Given the description of an element on the screen output the (x, y) to click on. 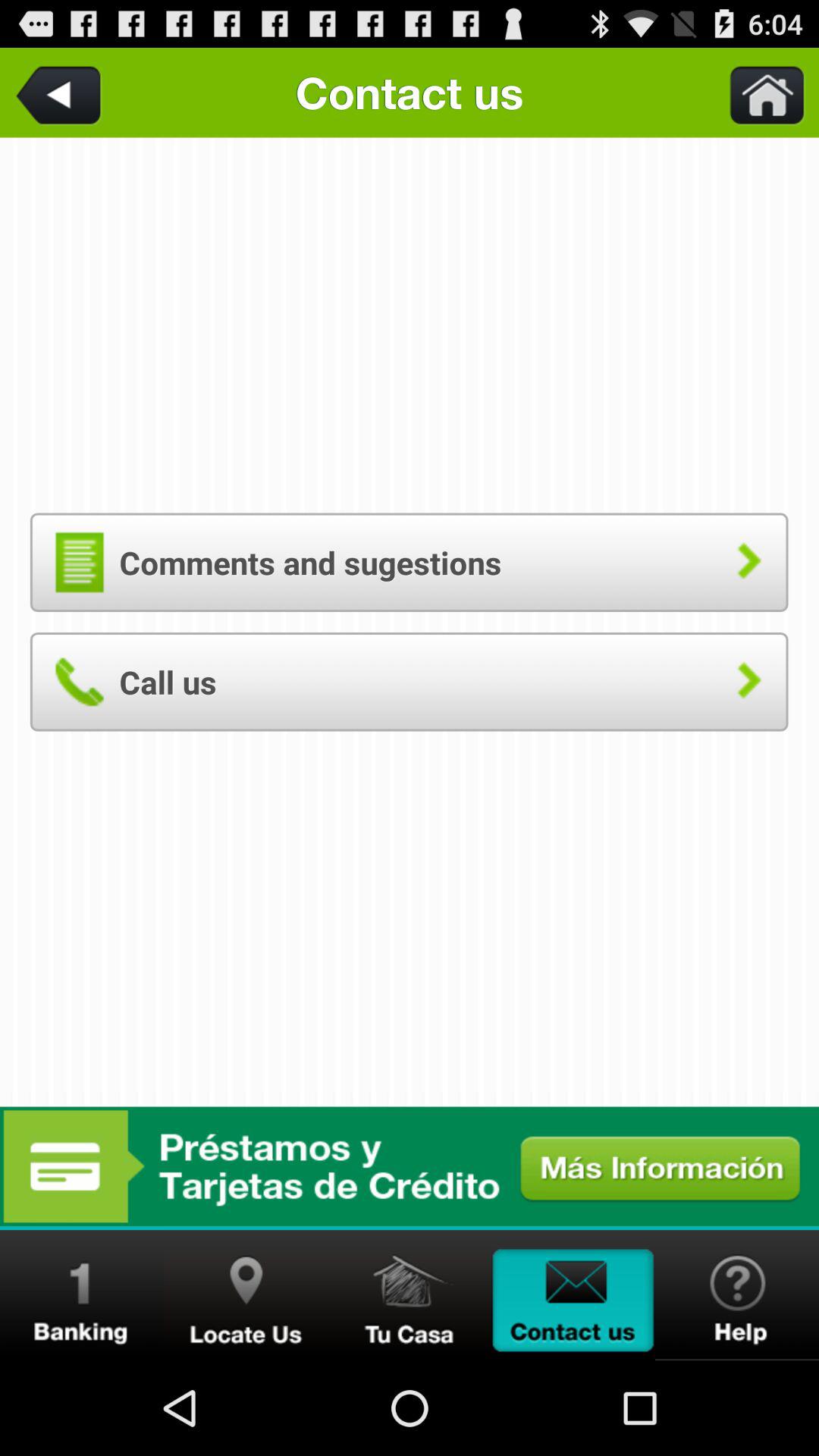
press the call us (409, 681)
